Given the description of an element on the screen output the (x, y) to click on. 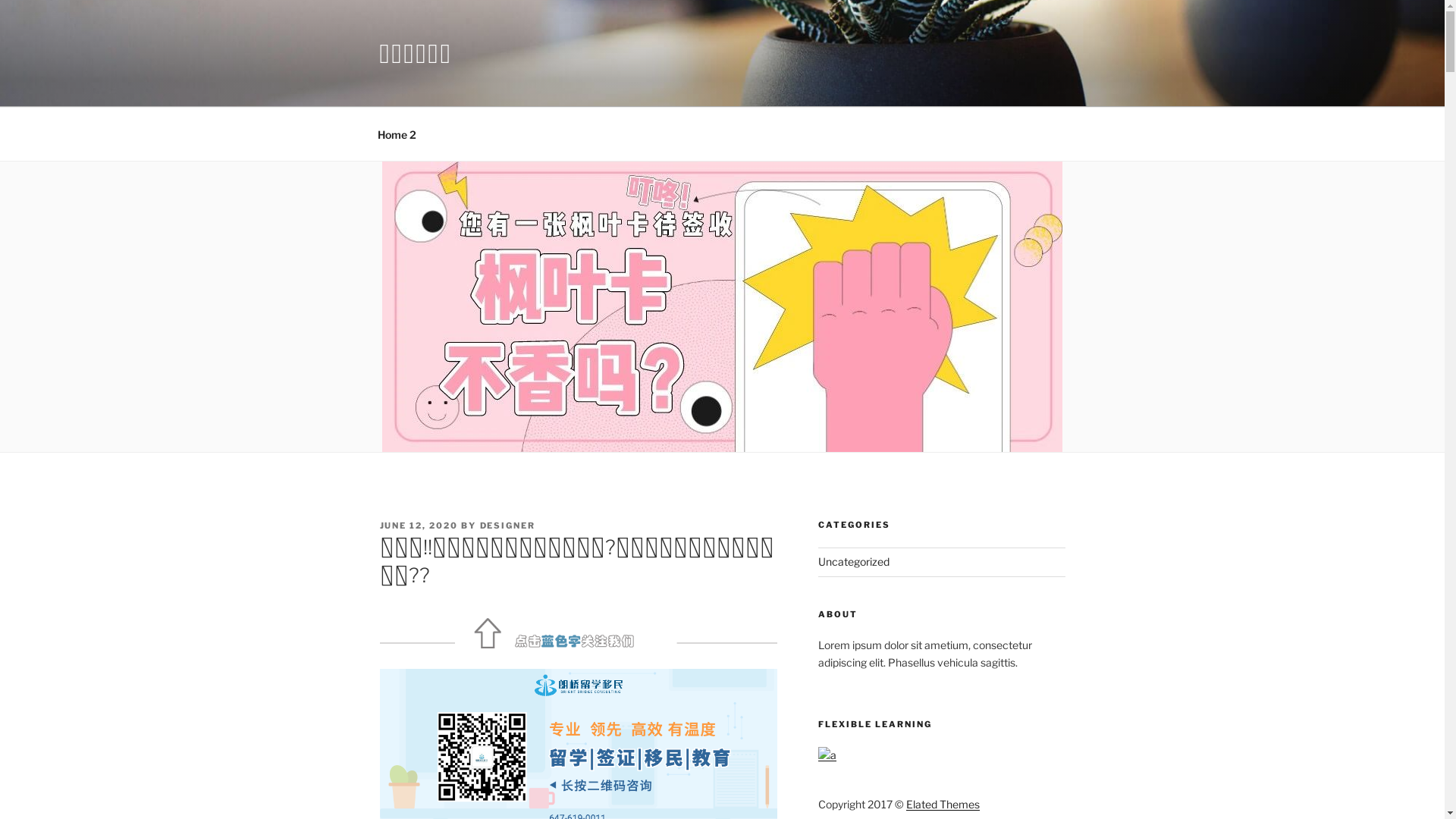
DESIGNER Element type: text (507, 525)
Elated Themes Element type: text (942, 803)
Home 2 Element type: text (396, 133)
JUNE 12, 2020 Element type: text (418, 525)
Uncategorized Element type: text (853, 561)
